Given the description of an element on the screen output the (x, y) to click on. 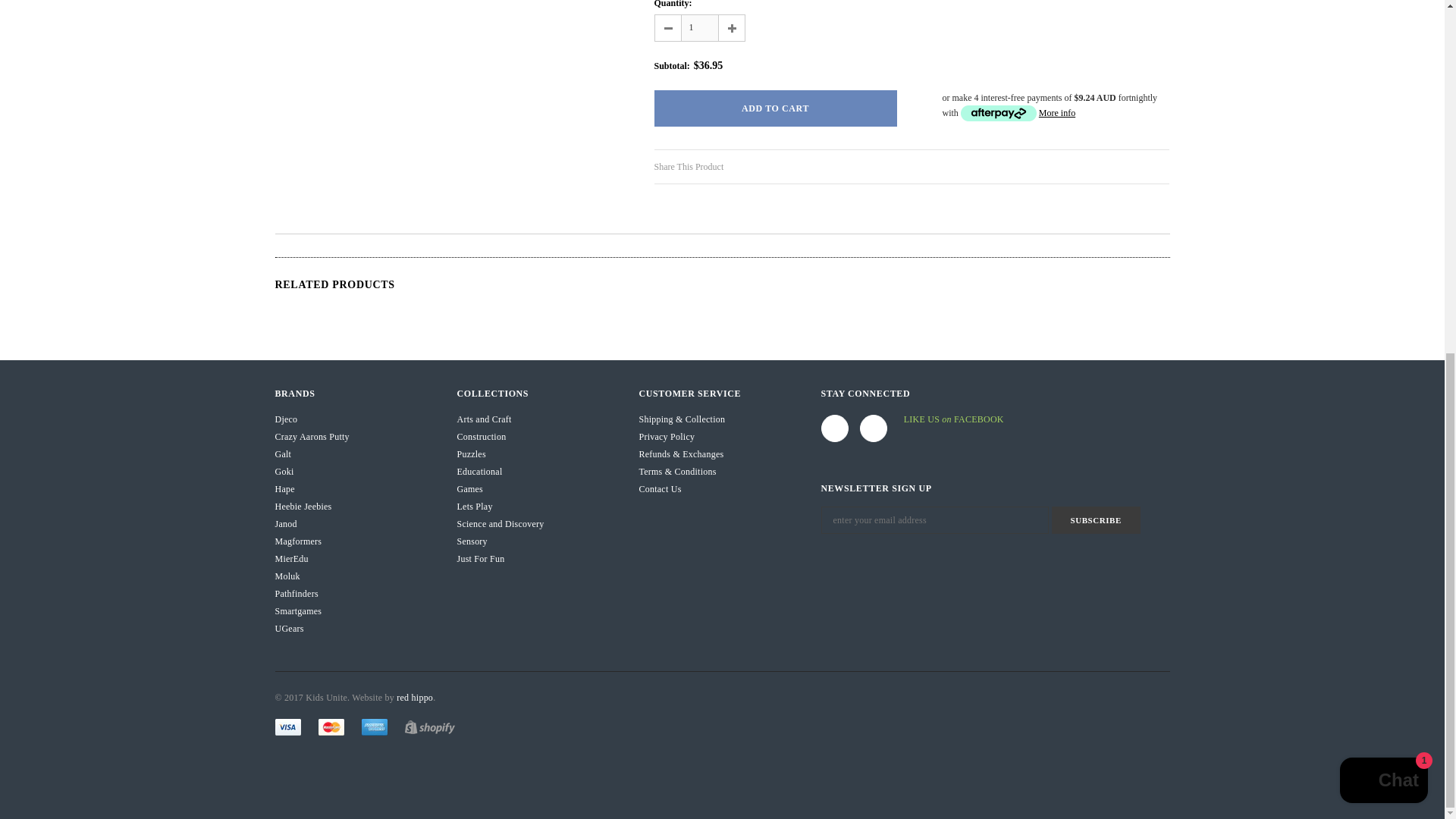
Add to Cart (774, 108)
Facebook (834, 428)
1 (700, 27)
Subscribe (1095, 519)
Shopify online store chat (1383, 165)
Instagram (873, 428)
